Given the description of an element on the screen output the (x, y) to click on. 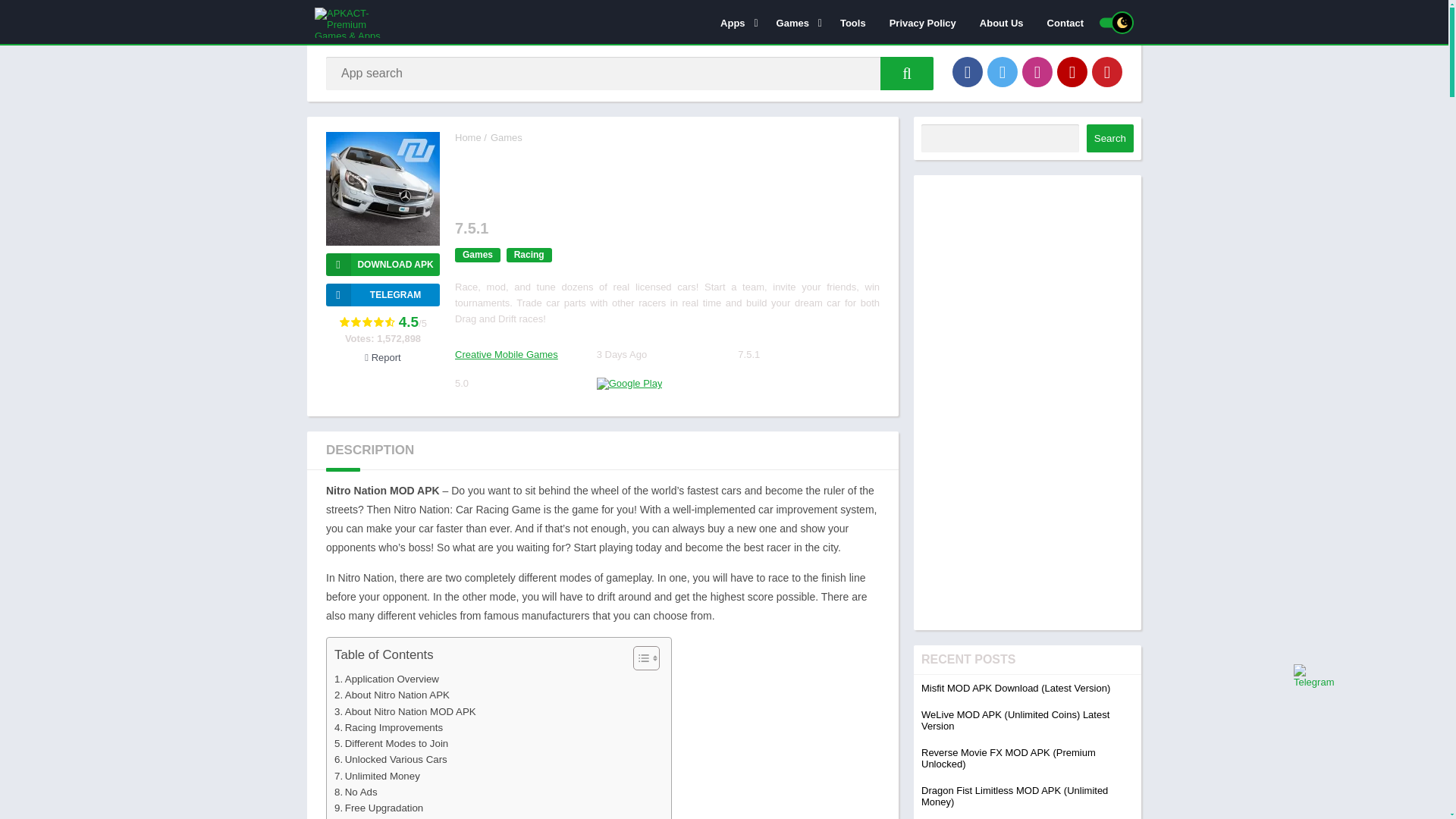
Racing Improvements (388, 727)
Apps (736, 22)
Tools (852, 22)
Different Modes to Join (391, 743)
YouTube (1072, 71)
Privacy Policy (922, 22)
Facebook (967, 71)
Telegram (382, 294)
Instagram (1037, 71)
Download APK (382, 264)
Free Upgradation (378, 807)
About Nitro Nation MOD APK (405, 711)
Contact (1064, 22)
Unlimited Money (377, 775)
Pinterest (1107, 71)
